Given the description of an element on the screen output the (x, y) to click on. 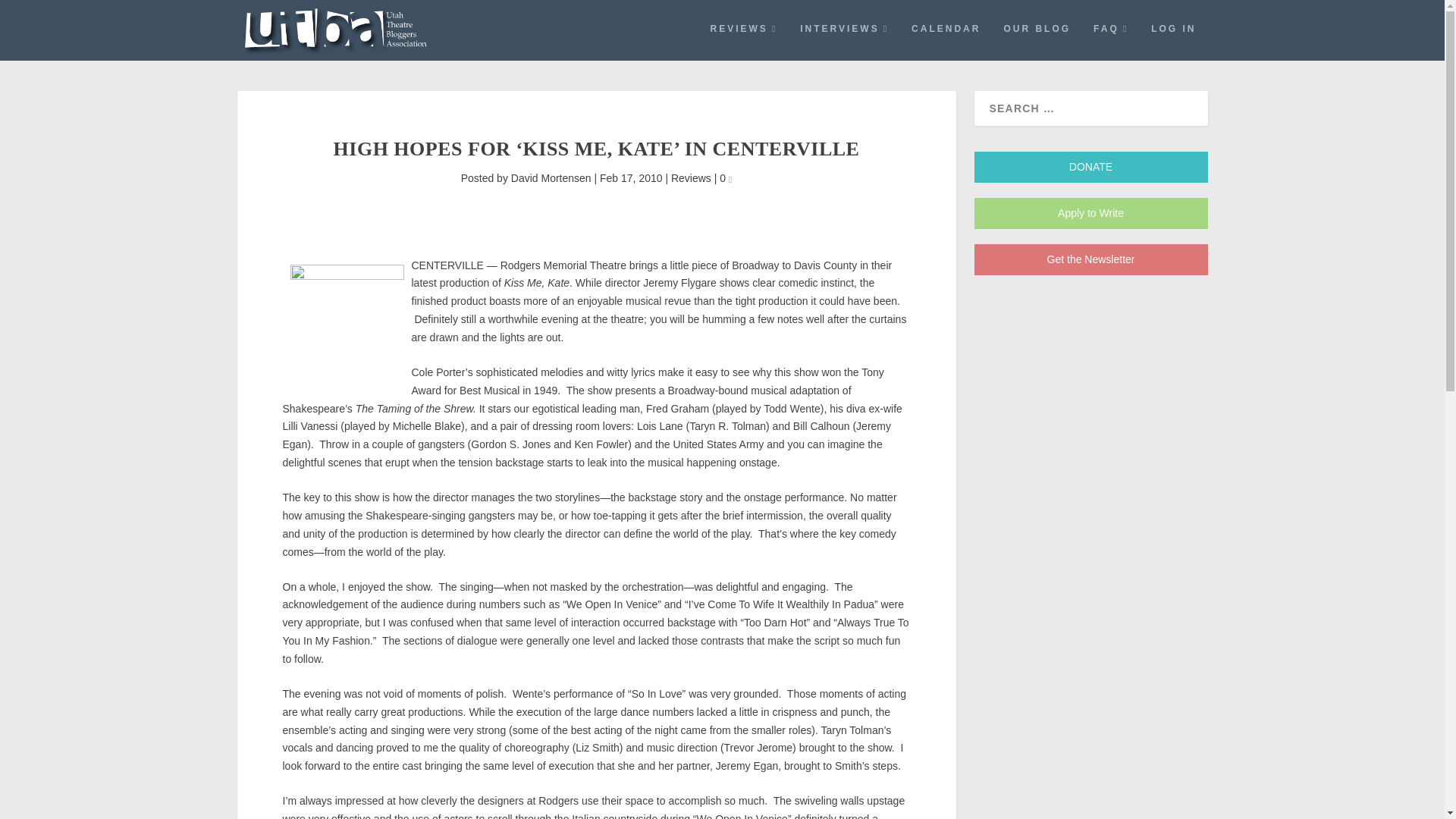
INTERVIEWS (843, 41)
FAQ (1110, 41)
CALENDAR (945, 41)
REVIEWS (743, 41)
Posts by David Mortensen (551, 177)
LOG IN (1173, 41)
OUR BLOG (1036, 41)
